Given the description of an element on the screen output the (x, y) to click on. 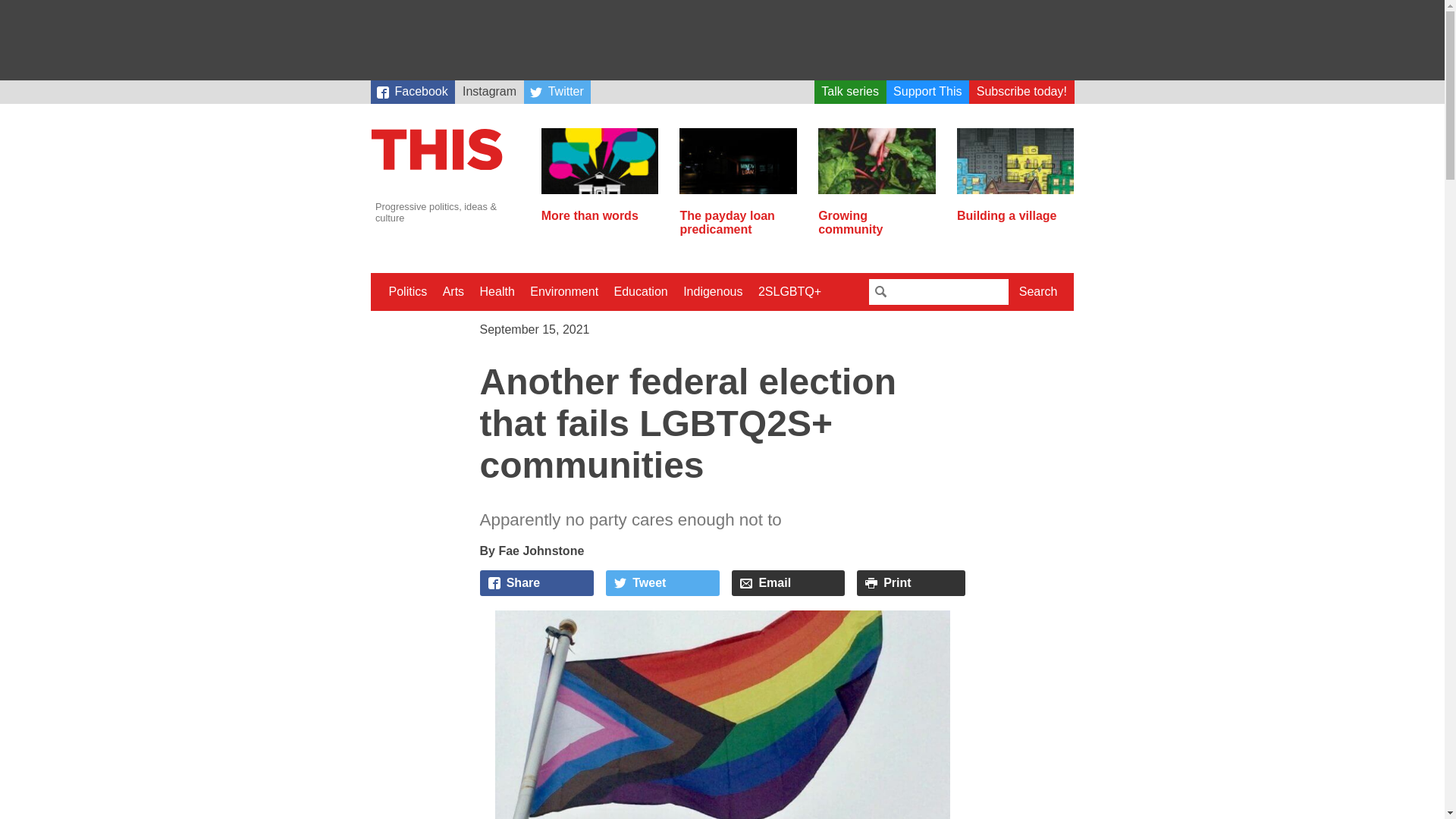
Talk series (849, 92)
Growing community (877, 215)
Building a village (1015, 208)
Health (497, 291)
Share (536, 583)
Support This (927, 92)
Facebook (411, 92)
Twitter (557, 92)
Print (911, 583)
Politics (406, 291)
Instagram (488, 92)
More than words (600, 208)
3rd party ad content (721, 39)
Email (788, 583)
Tweet (662, 583)
